Given the description of an element on the screen output the (x, y) to click on. 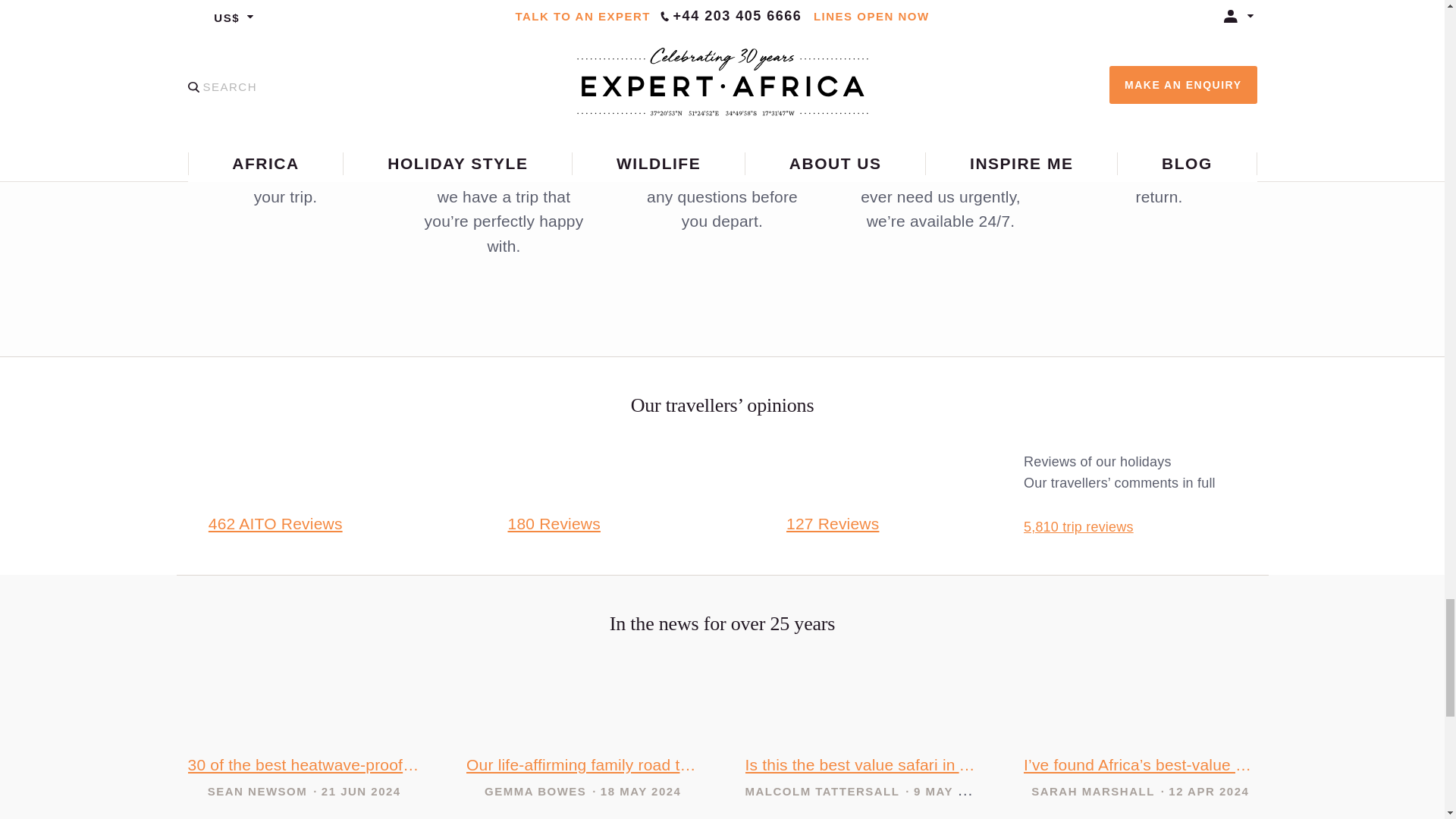
30 of the best heatwave-proof holidays to book this summer (304, 765)
Reviews on Facebook (553, 523)
Reviews on Google (832, 523)
Our traveller reviews (1078, 527)
